Given the description of an element on the screen output the (x, y) to click on. 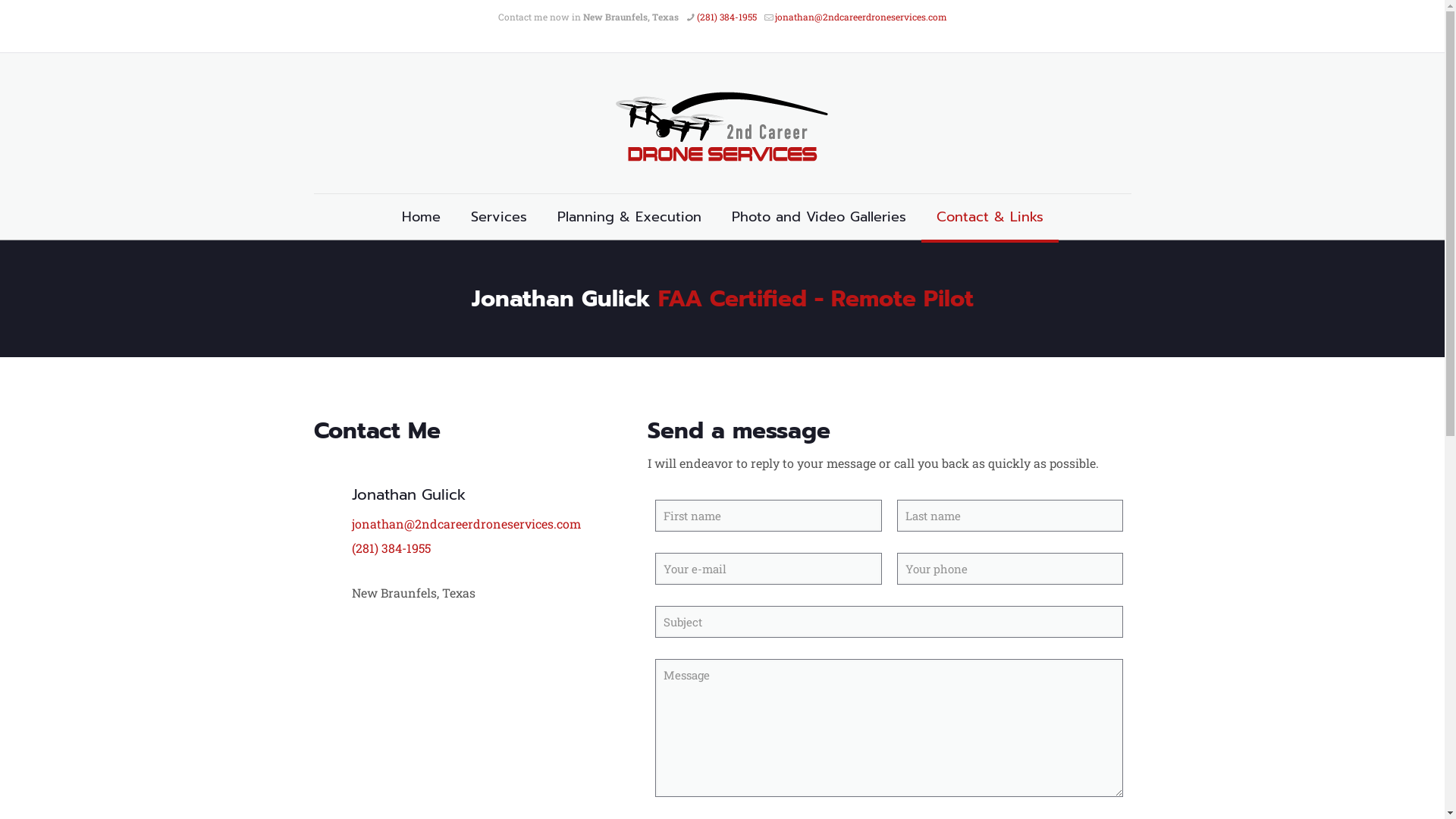
jonathan@2ndcareerdroneservices.com Element type: text (465, 523)
Planning & Execution Element type: text (628, 216)
(281) 384-1955 Element type: text (390, 547)
Photo and Video Galleries Element type: text (817, 216)
(281) 384-1955 Element type: text (726, 16)
Home Element type: text (420, 216)
Services Element type: text (498, 216)
Contact & Links Element type: text (988, 216)
jonathan@2ndcareerdroneservices.com Element type: text (861, 16)
2nd Career Drone Services Element type: hover (721, 123)
